Given the description of an element on the screen output the (x, y) to click on. 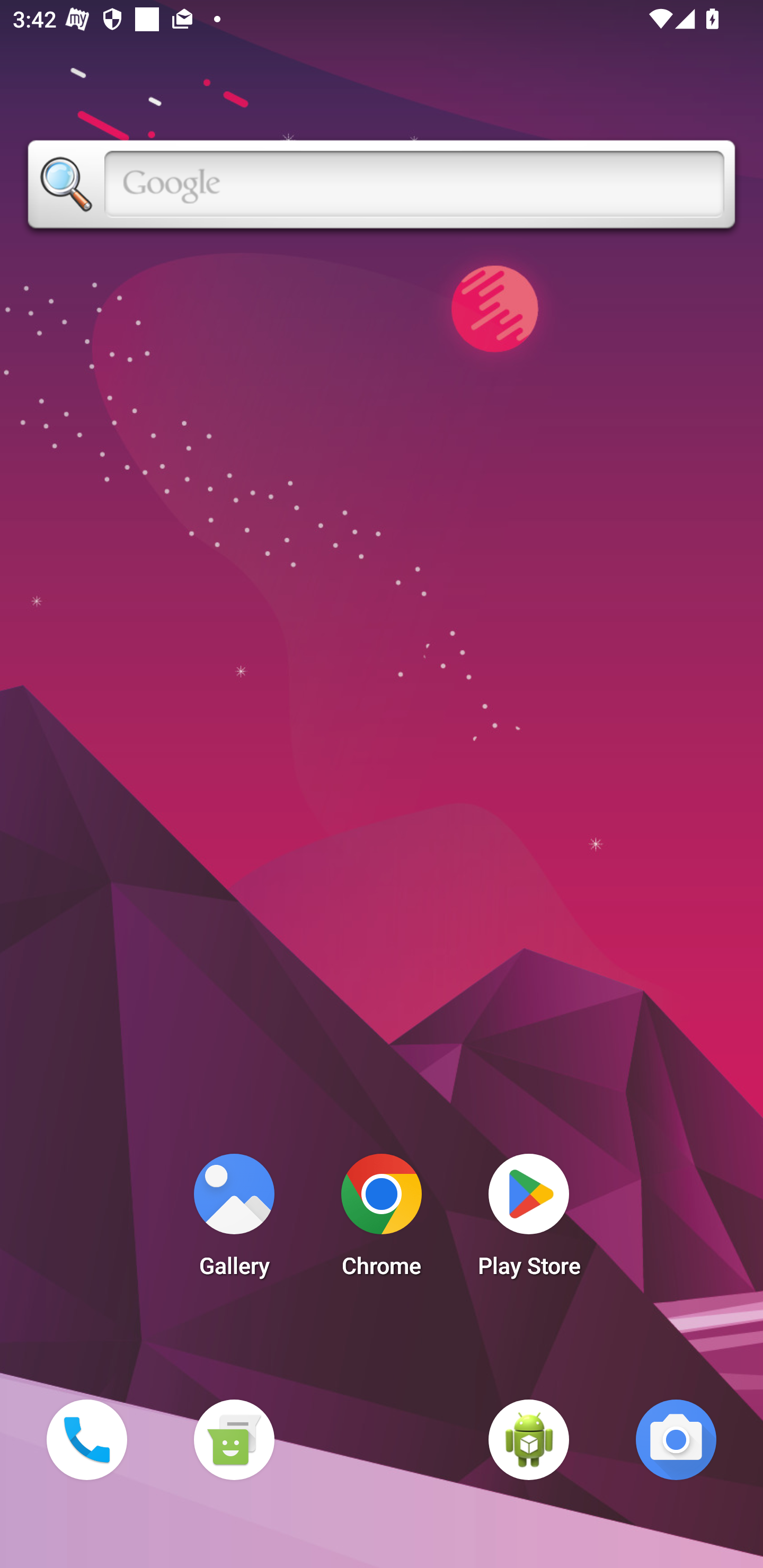
Gallery (233, 1220)
Chrome (381, 1220)
Play Store (528, 1220)
Phone (86, 1439)
Messaging (233, 1439)
WebView Browser Tester (528, 1439)
Camera (676, 1439)
